Given the description of an element on the screen output the (x, y) to click on. 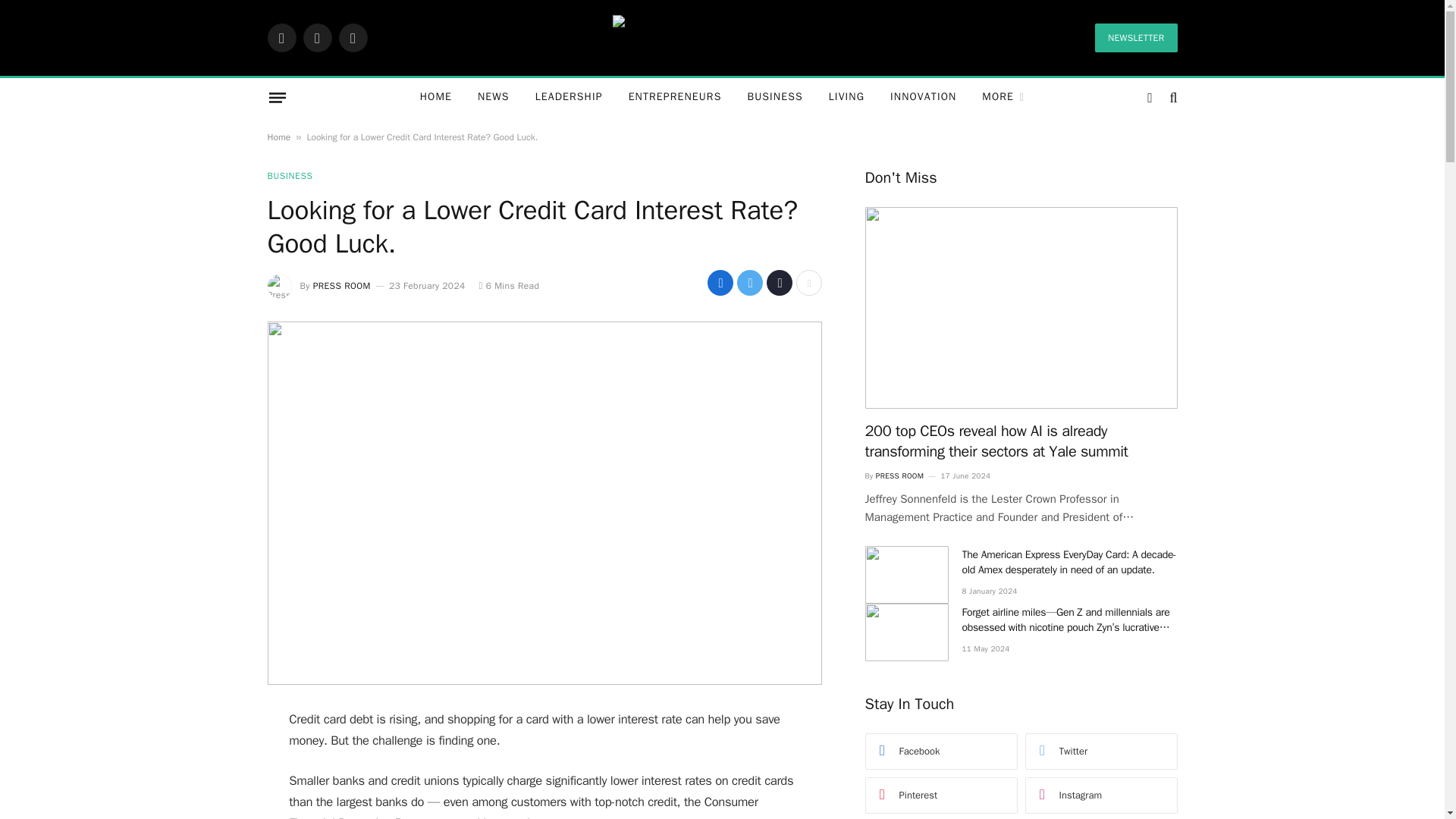
NEWSLETTER (1135, 37)
LEADERSHIP (568, 97)
LIVING (846, 97)
Alpha Leaders (721, 37)
INNOVATION (923, 97)
MORE (1002, 97)
Switch to Dark Design - easier on eyes. (1149, 97)
HOME (435, 97)
NEWS (493, 97)
Facebook (280, 37)
ENTREPRENEURS (675, 97)
Instagram (351, 37)
Posts by Press Room (342, 285)
BUSINESS (774, 97)
Share on Facebook (720, 282)
